Given the description of an element on the screen output the (x, y) to click on. 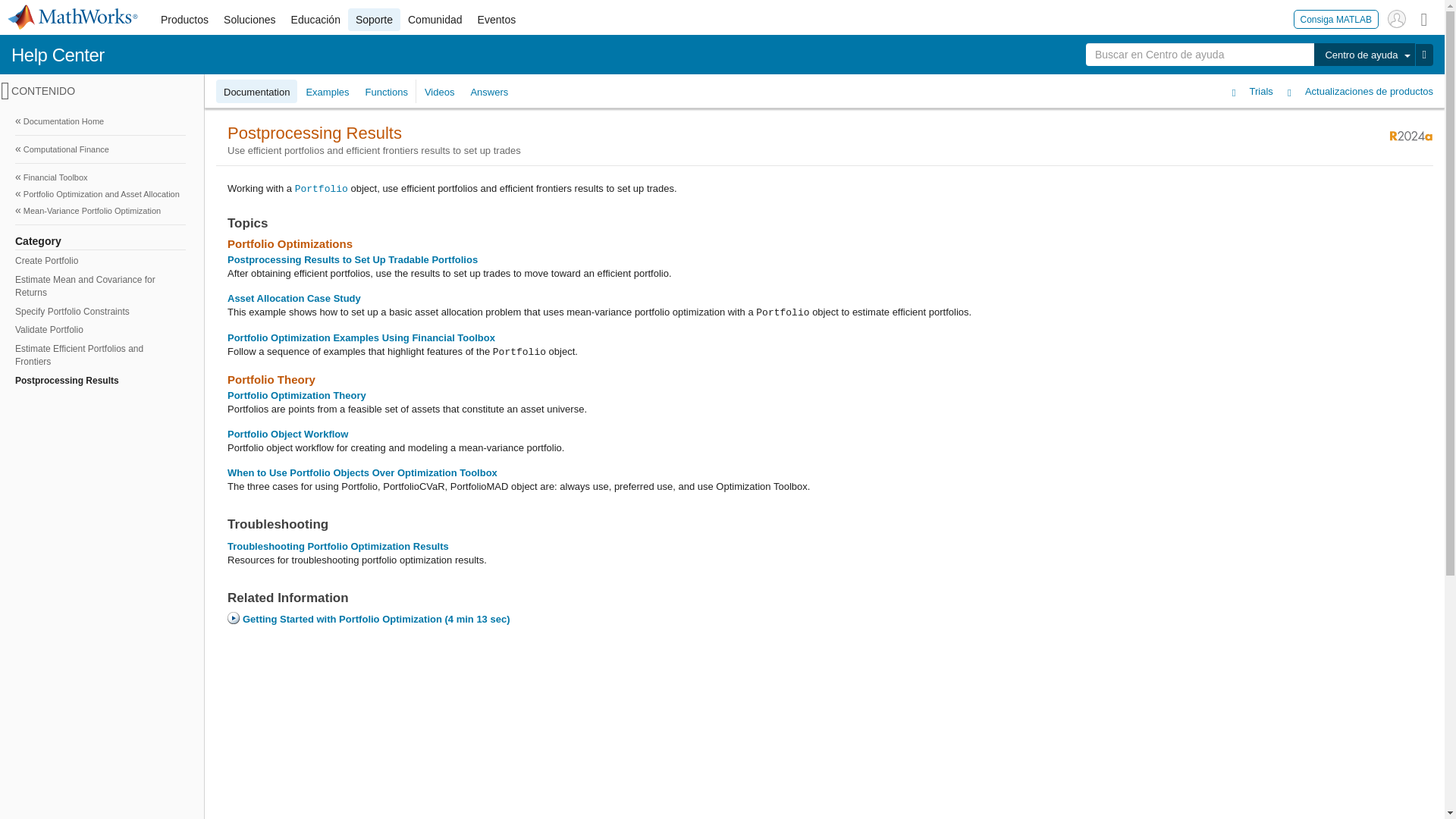
Productos (183, 19)
Eventos (497, 19)
Matrix Menu (1423, 18)
Comunidad (435, 19)
Soluciones (249, 19)
Consiga MATLAB (1336, 18)
Soporte (373, 19)
